Given the description of an element on the screen output the (x, y) to click on. 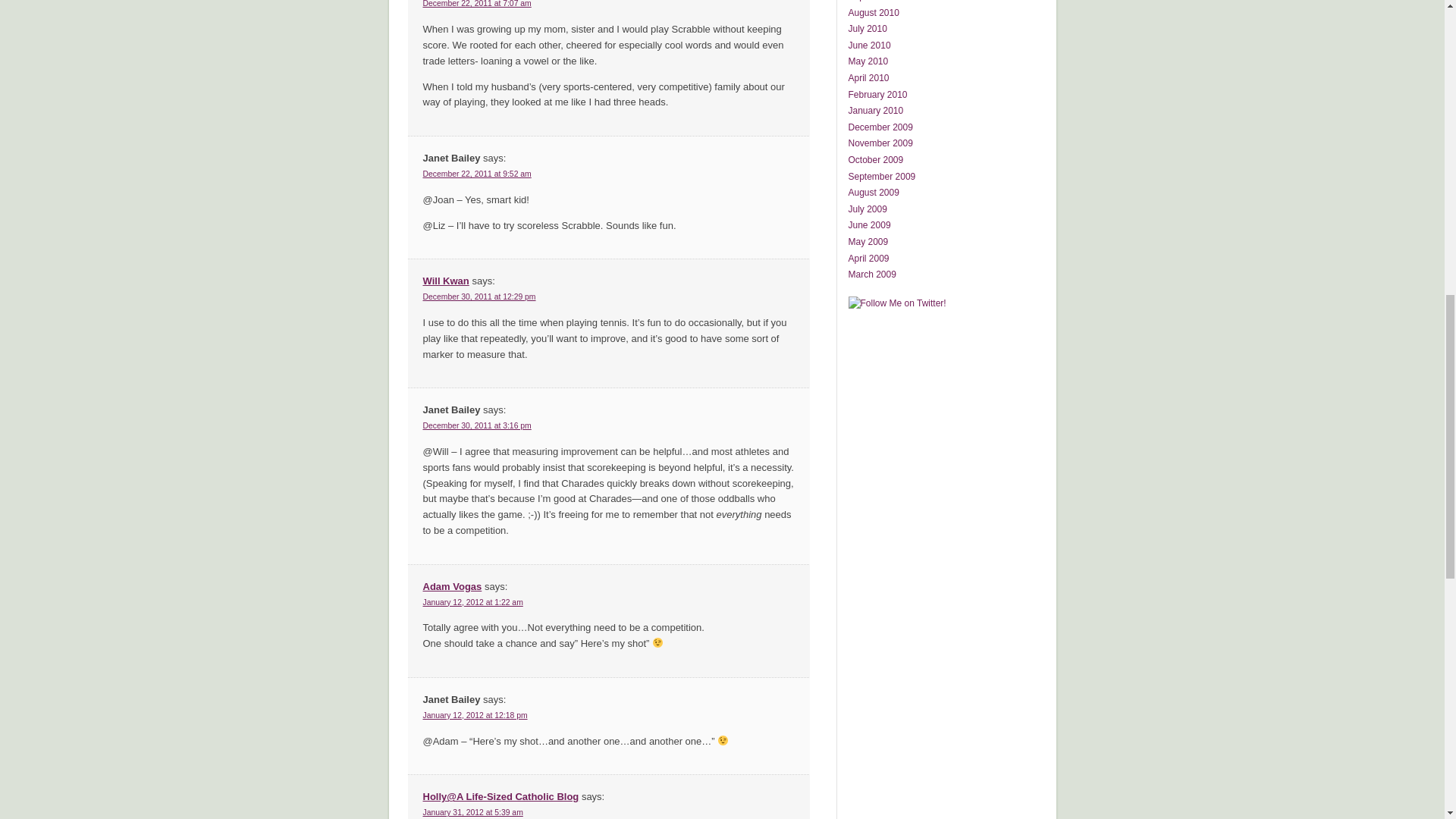
Adam Vogas (452, 586)
December 30, 2011 at 12:29 pm (479, 296)
January 12, 2012 at 1:22 am (472, 602)
December 22, 2011 at 7:07 am (477, 3)
January 31, 2012 at 5:39 am (472, 812)
Will Kwan (445, 280)
December 30, 2011 at 3:16 pm (477, 425)
December 22, 2011 at 9:52 am (477, 173)
January 12, 2012 at 12:18 pm (475, 715)
